Given the description of an element on the screen output the (x, y) to click on. 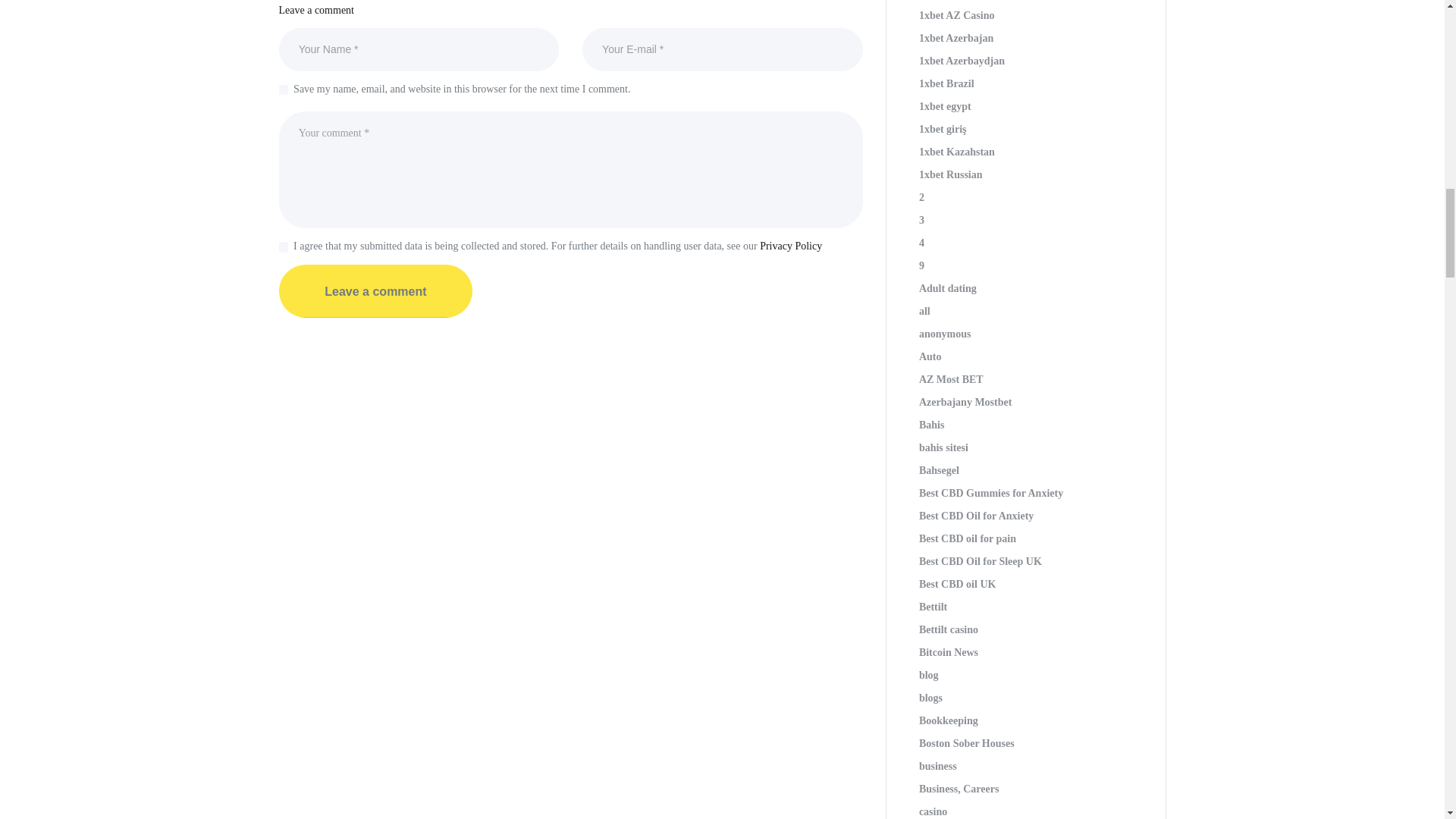
Leave a comment (376, 290)
